Given the description of an element on the screen output the (x, y) to click on. 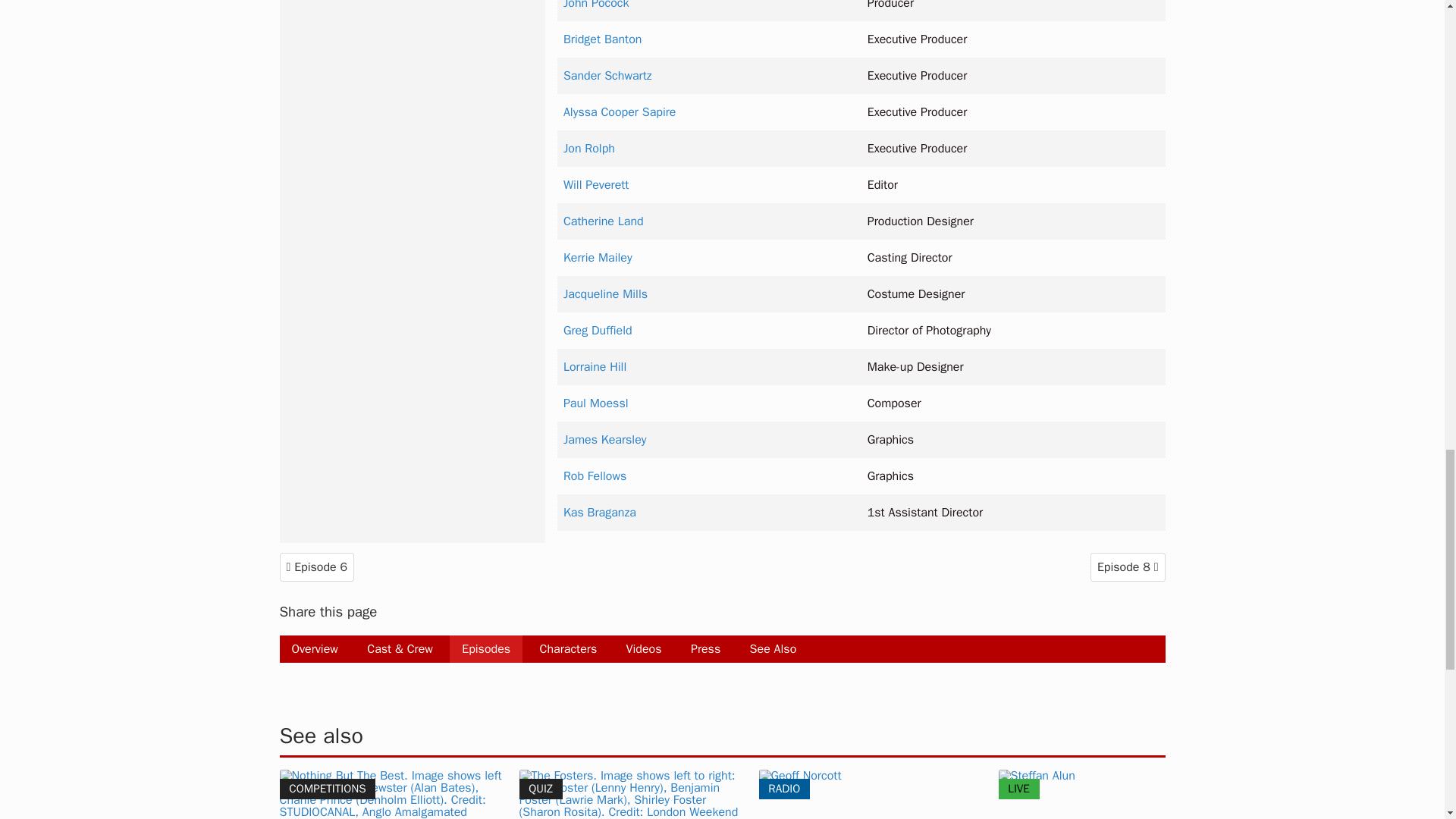
Steffan Alun (1111, 794)
Geoff Norcott (871, 794)
